Given the description of an element on the screen output the (x, y) to click on. 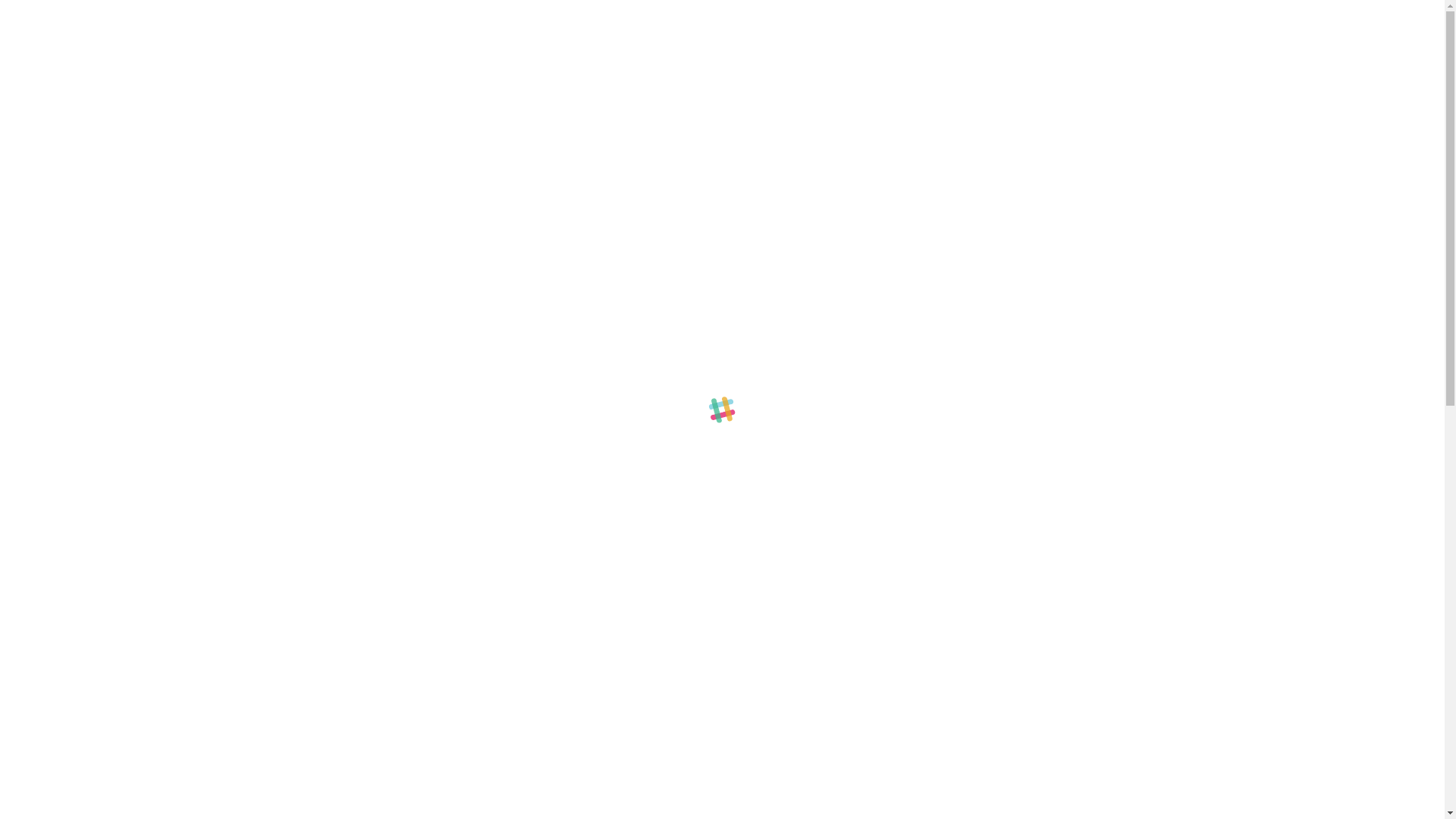
Portfolio de Trabalhos e Projetos Element type: text (1059, 275)
search Element type: hover (960, 594)
search Element type: hover (1024, 594)
fevereiro 2021 Element type: text (959, 672)
maio 2020 Element type: text (951, 725)
P Element type: text (300, 535)
junho 25, 2020 Element type: text (324, 130)
Trabalhos Feitos Element type: text (978, 503)
junho 2020 Element type: text (952, 699)
Dicas De Marketing Element type: text (988, 476)
Dicas de Marketing Element type: text (415, 130)
Logotipo Element type: text (1091, 476)
Pesquisar Element type: text (1024, 594)
Manual de Identidade do MDM Element type: text (1079, 137)
